Given the description of an element on the screen output the (x, y) to click on. 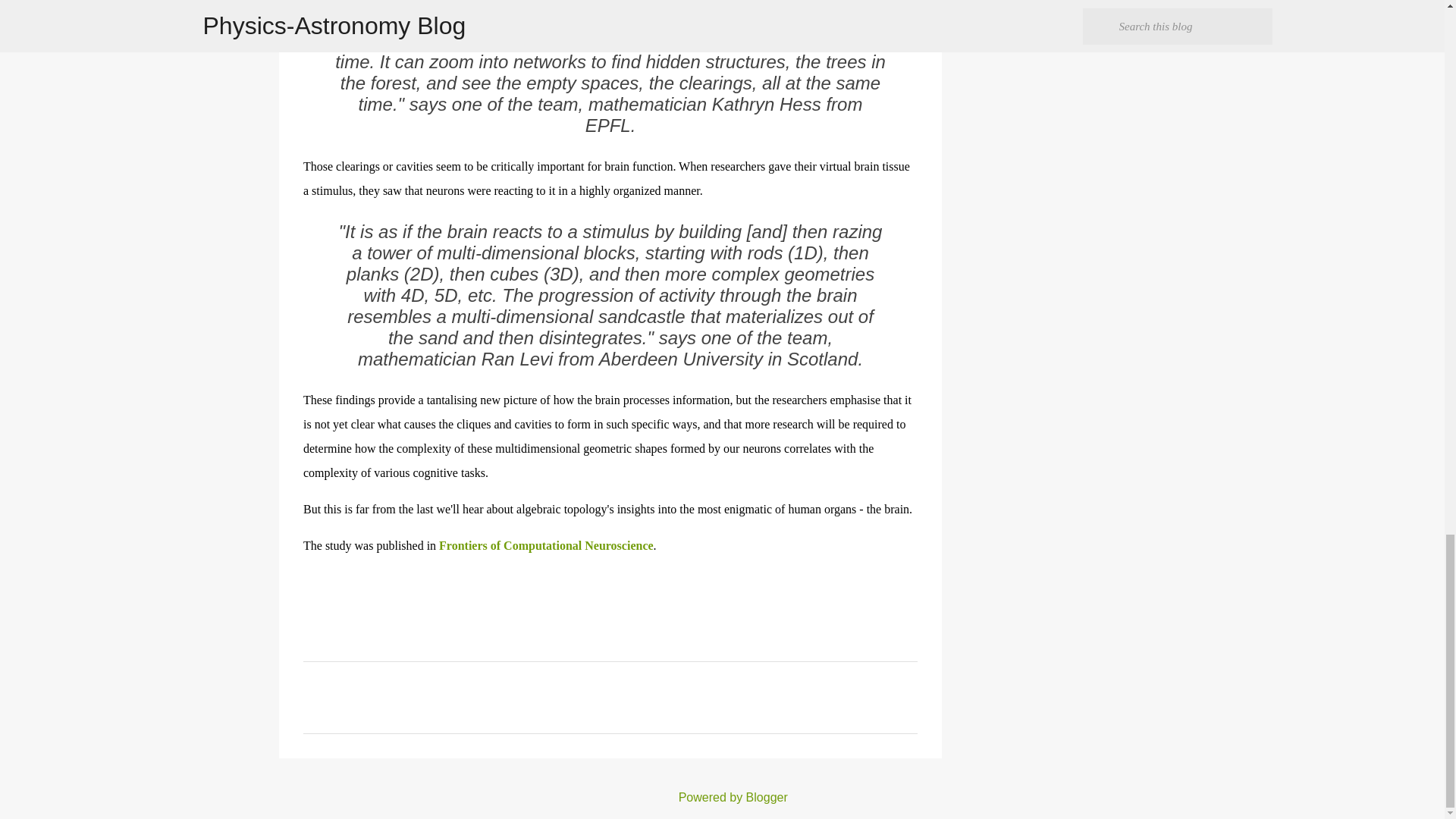
Frontiers of Computational Neuroscience (545, 545)
Powered by Blogger (721, 797)
